Given the description of an element on the screen output the (x, y) to click on. 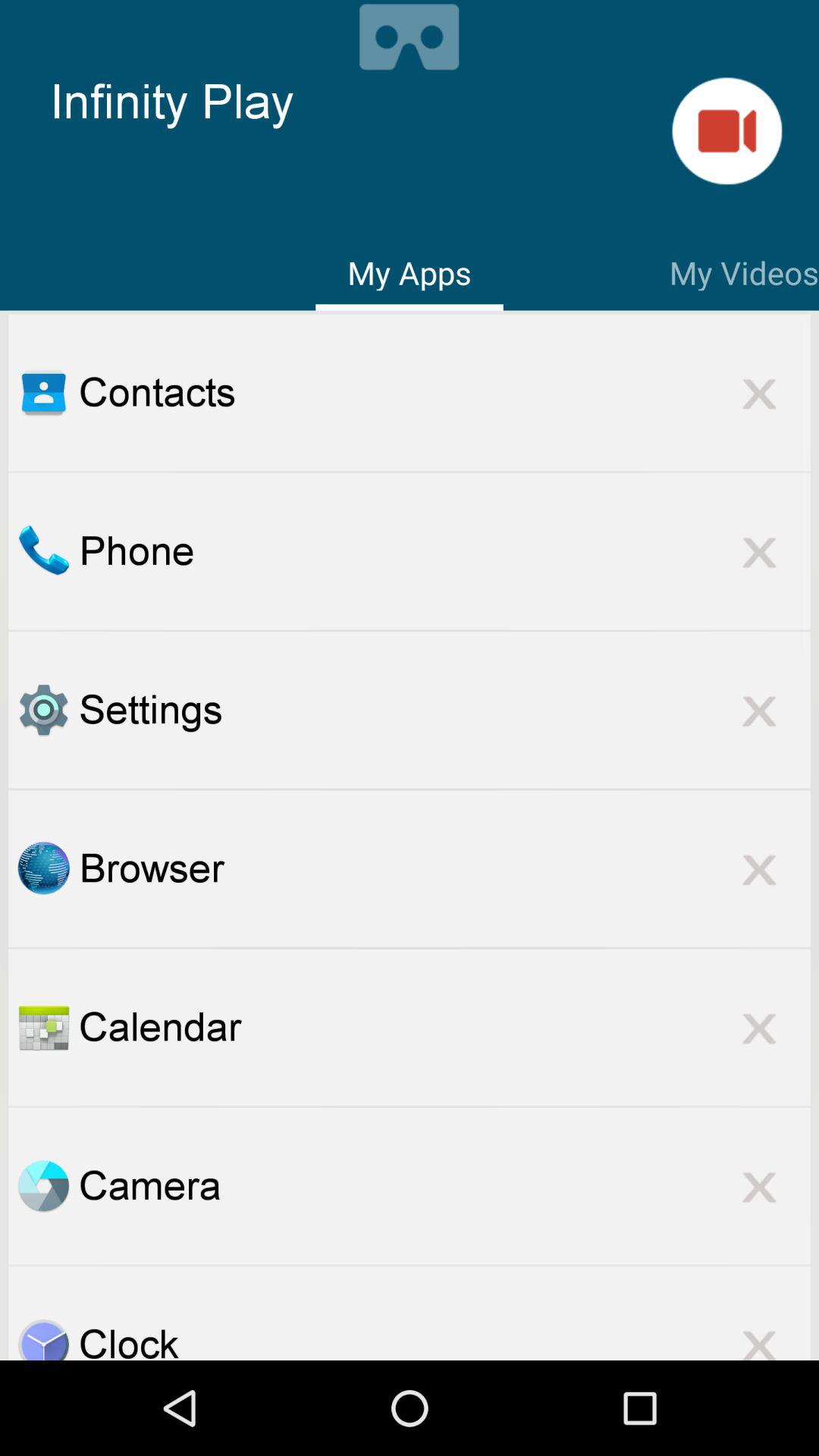
remove app (759, 551)
